Given the description of an element on the screen output the (x, y) to click on. 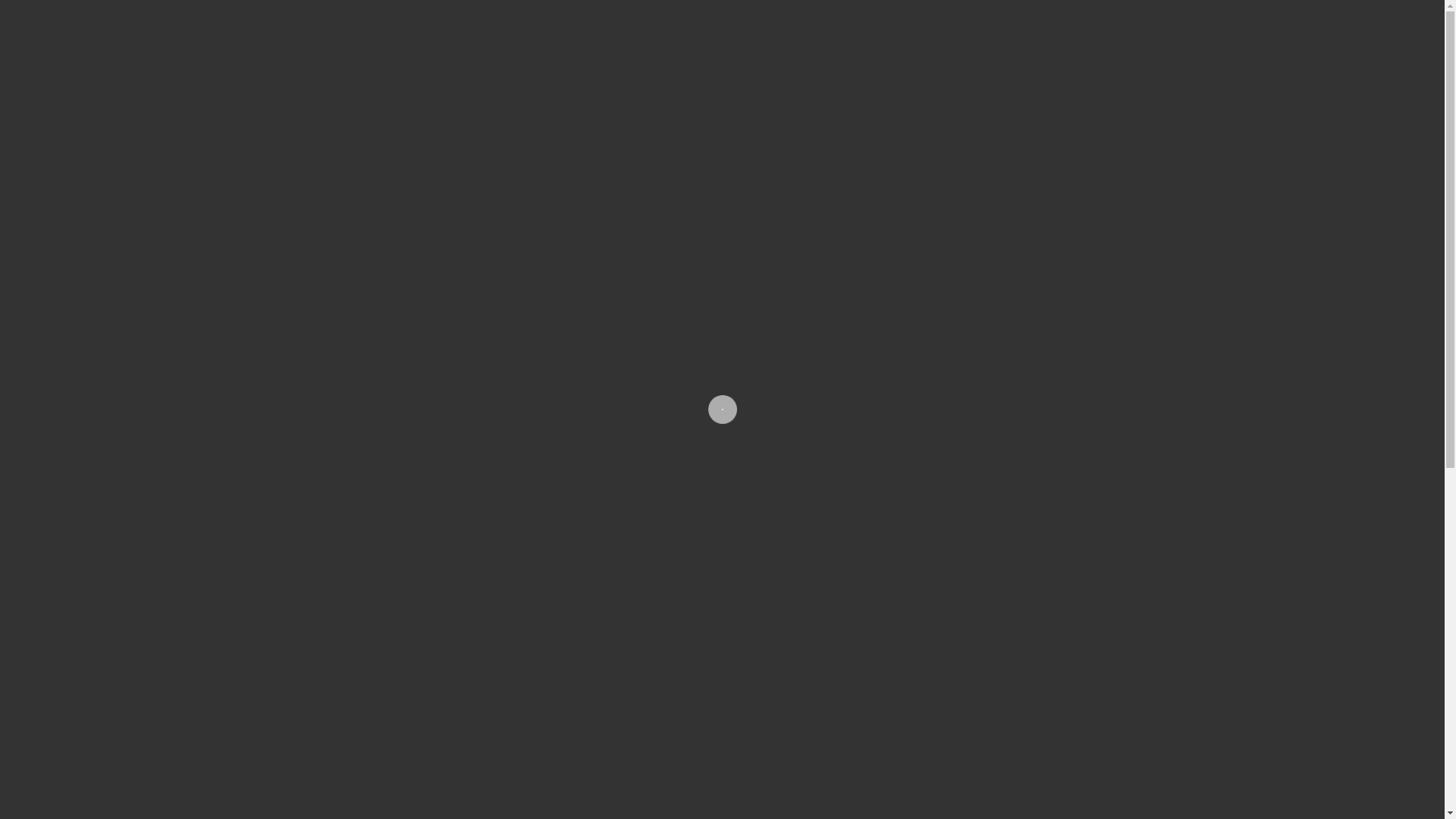
HOME Element type: text (768, 84)
Member Development Element type: text (1129, 613)
LIFESAVING Element type: text (971, 84)
ABOUT Element type: text (825, 84)
Become a Member Element type: text (908, 613)
Search Element type: hover (1407, 84)
BE SAFE Element type: text (892, 84)
SURF SPORTS Element type: text (1273, 84)
CLUBS & MEMBERS Element type: text (1081, 85)
CONTACT Element type: text (1359, 84)
Our Clubs Element type: text (686, 613)
COURSES Element type: text (1185, 84)
